Given the description of an element on the screen output the (x, y) to click on. 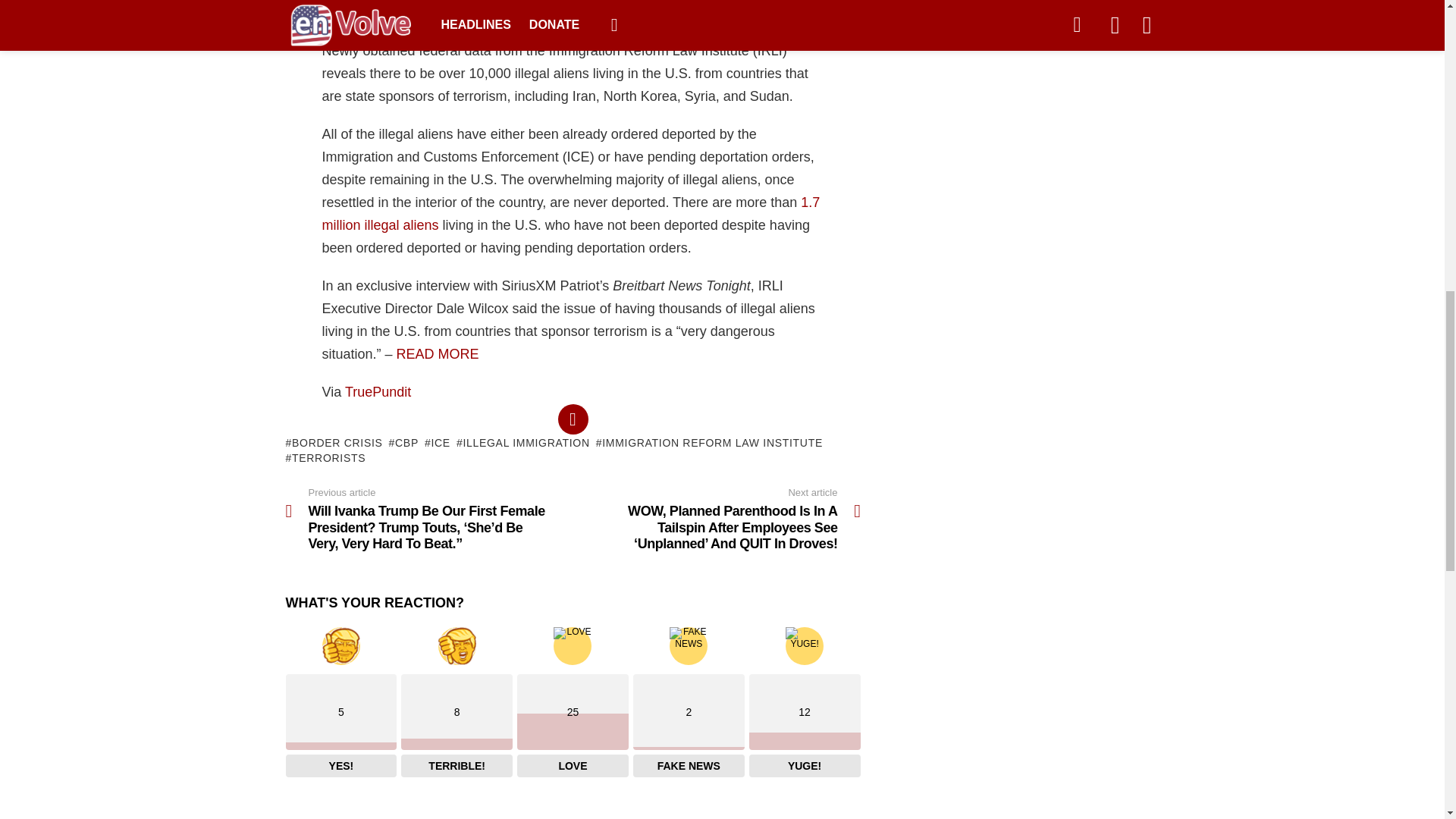
1.7 million illegal aliens (570, 213)
